Given the description of an element on the screen output the (x, y) to click on. 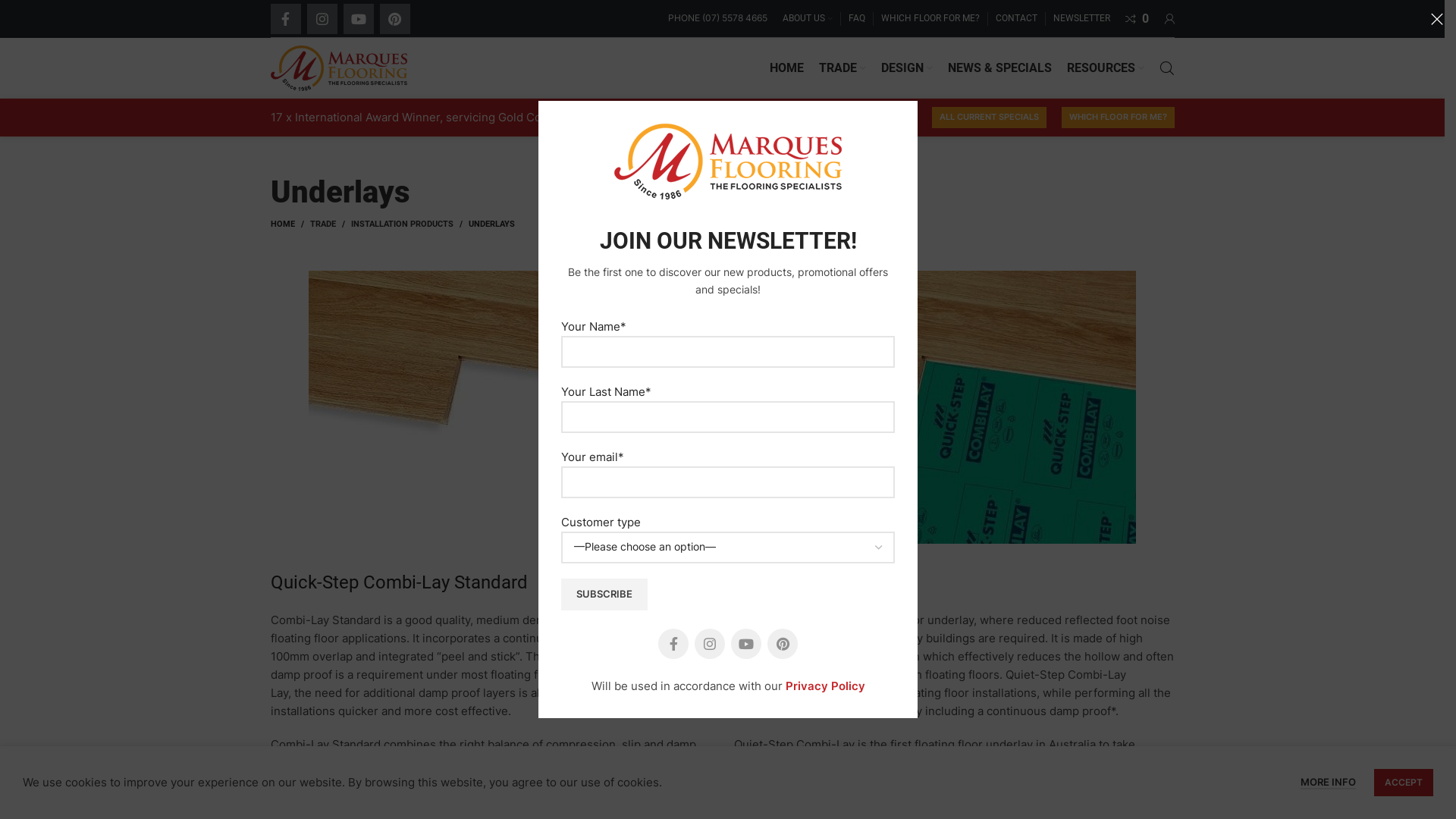
NEWSLETTER Element type: text (1080, 18)
Privacy Policy Element type: text (825, 685)
WHICH FLOOR FOR ME? Element type: text (1117, 117)
TRADE Element type: text (842, 68)
INSTALLATION PRODUCTS Element type: text (401, 224)
DESIGN Element type: text (906, 68)
MORE INFO Element type: text (1327, 782)
HOME Element type: text (289, 224)
NEWS & SPECIALS Element type: text (999, 68)
0 Element type: text (1136, 18)
Search Element type: hover (1166, 68)
WHICH FLOOR FOR ME? Element type: text (930, 18)
CONTACT Element type: text (1015, 18)
FAQ Element type: text (855, 18)
ABOUT US Element type: text (807, 18)
TRADE Element type: text (322, 224)
ALL CURRENT SPECIALS Element type: text (988, 117)
My account Element type: hover (1168, 18)
SUBSCRIBE Element type: text (604, 594)
Marques Flooring Element type: hover (727, 161)
ACCEPT Element type: text (1403, 782)
HOME Element type: text (785, 68)
RESOURCES Element type: text (1104, 68)
